Given the description of an element on the screen output the (x, y) to click on. 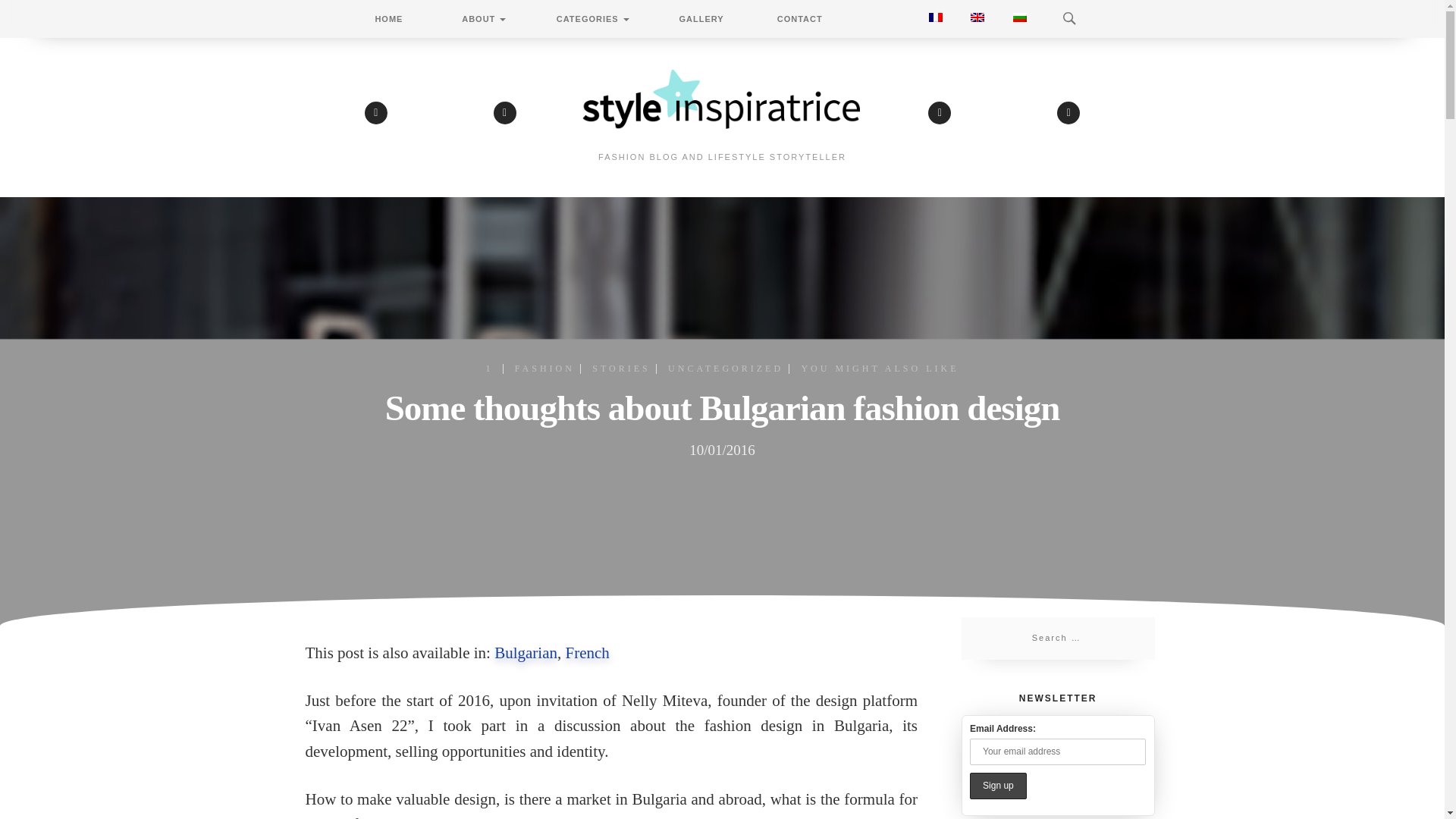
HOME (387, 18)
GALLERY (701, 18)
CONTACT (799, 18)
GALLERY (701, 18)
UNCATEGORIZED (719, 368)
ABOUT (483, 18)
CATEGORIES (592, 18)
HOME (387, 18)
